Given the description of an element on the screen output the (x, y) to click on. 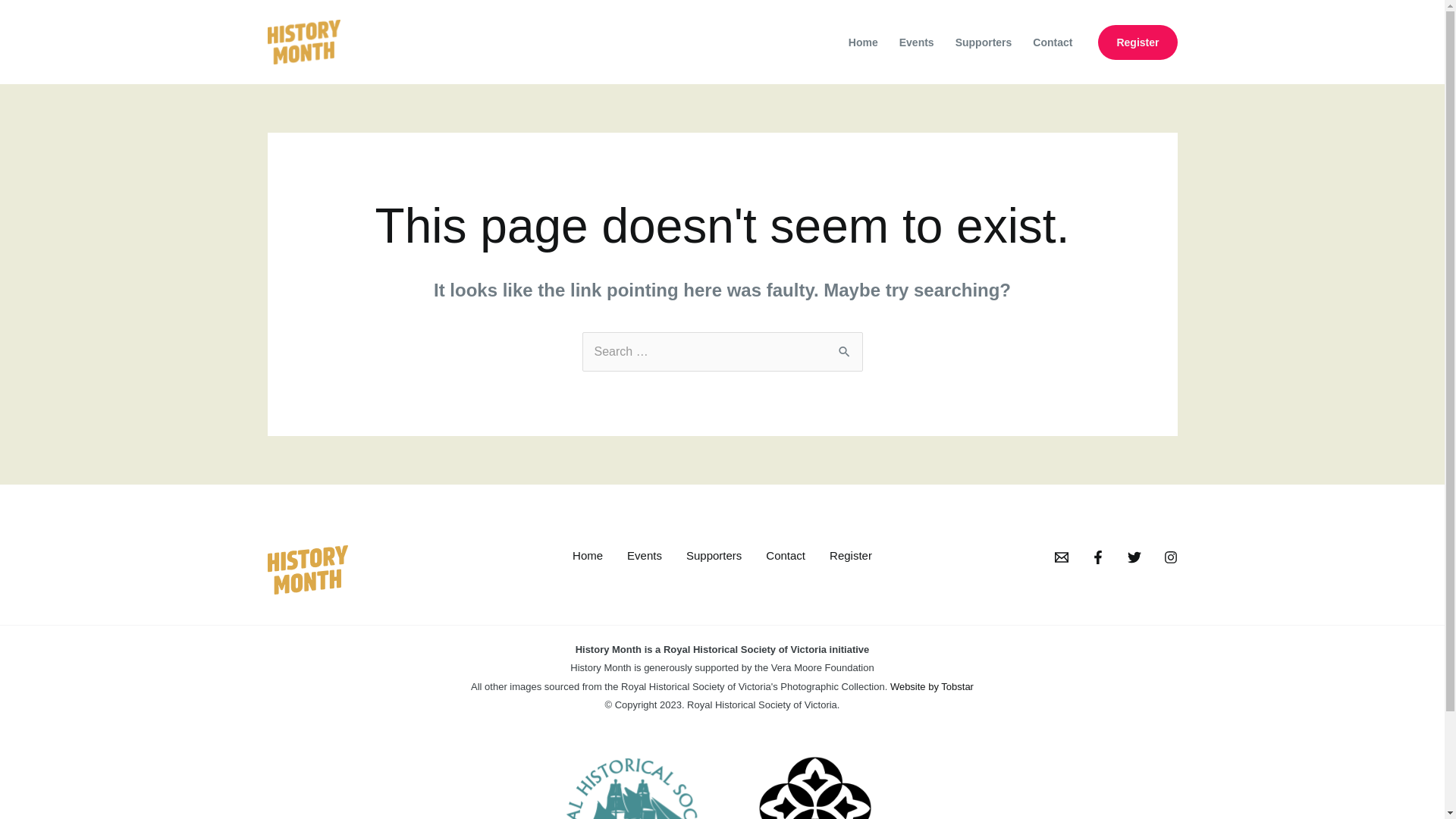
Home Element type: text (587, 555)
Register Element type: text (850, 555)
Supporters Element type: text (713, 555)
Website by Tobstar Element type: text (931, 686)
Contact Element type: text (785, 555)
Home Element type: text (862, 41)
Supporters Element type: text (983, 41)
Events Element type: text (916, 41)
Register Element type: text (1137, 41)
Search Element type: text (845, 347)
Events Element type: text (644, 555)
Contact Element type: text (1052, 41)
